Given the description of an element on the screen output the (x, y) to click on. 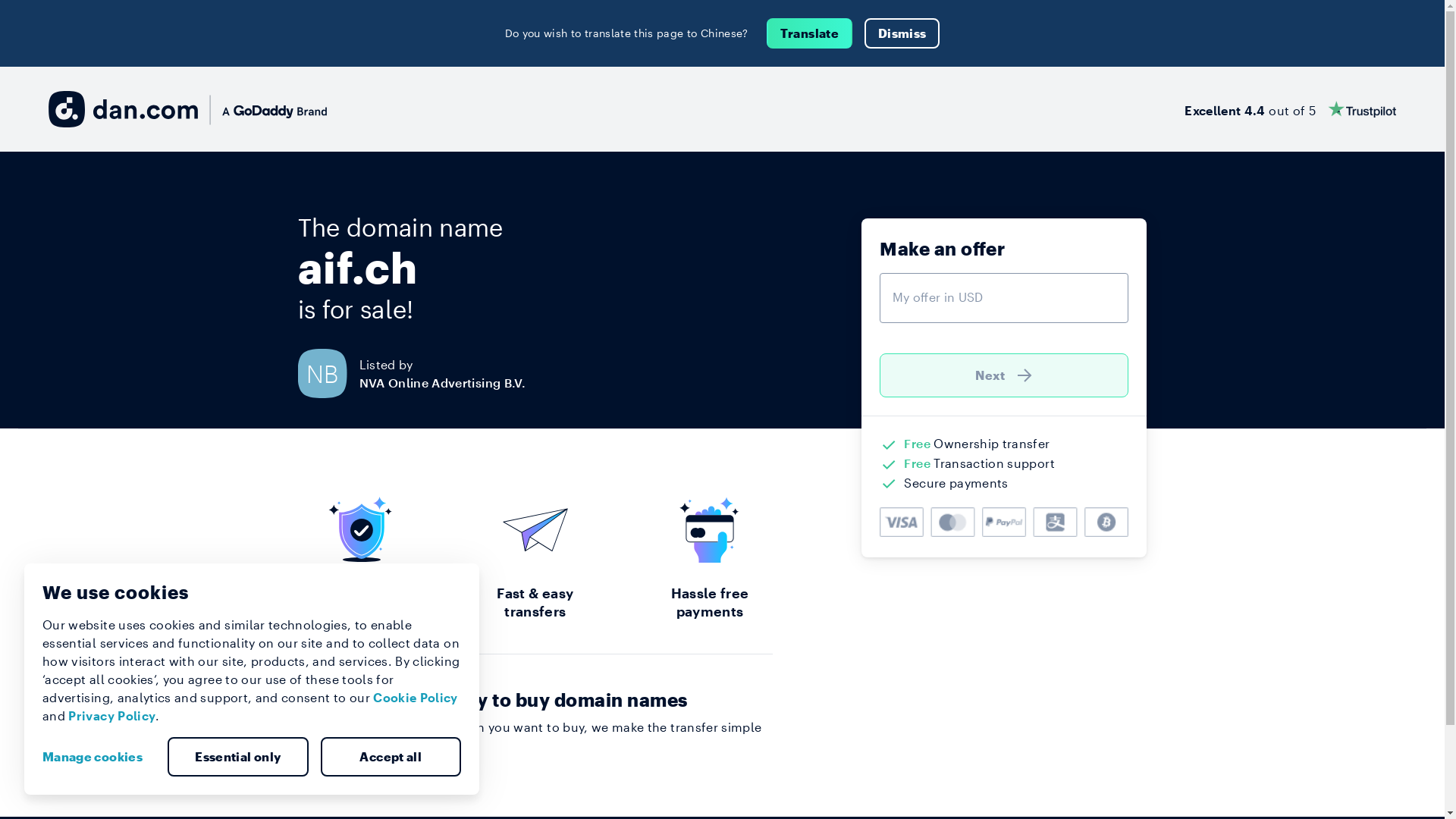
Accept all Element type: text (390, 756)
Next
) Element type: text (1003, 375)
Essential only Element type: text (237, 756)
Excellent 4.4 out of 5 Element type: text (1290, 109)
Dismiss Element type: text (901, 33)
Privacy Policy Element type: text (111, 715)
Manage cookies Element type: text (98, 756)
Translate Element type: text (809, 33)
Cookie Policy Element type: text (415, 697)
